Given the description of an element on the screen output the (x, y) to click on. 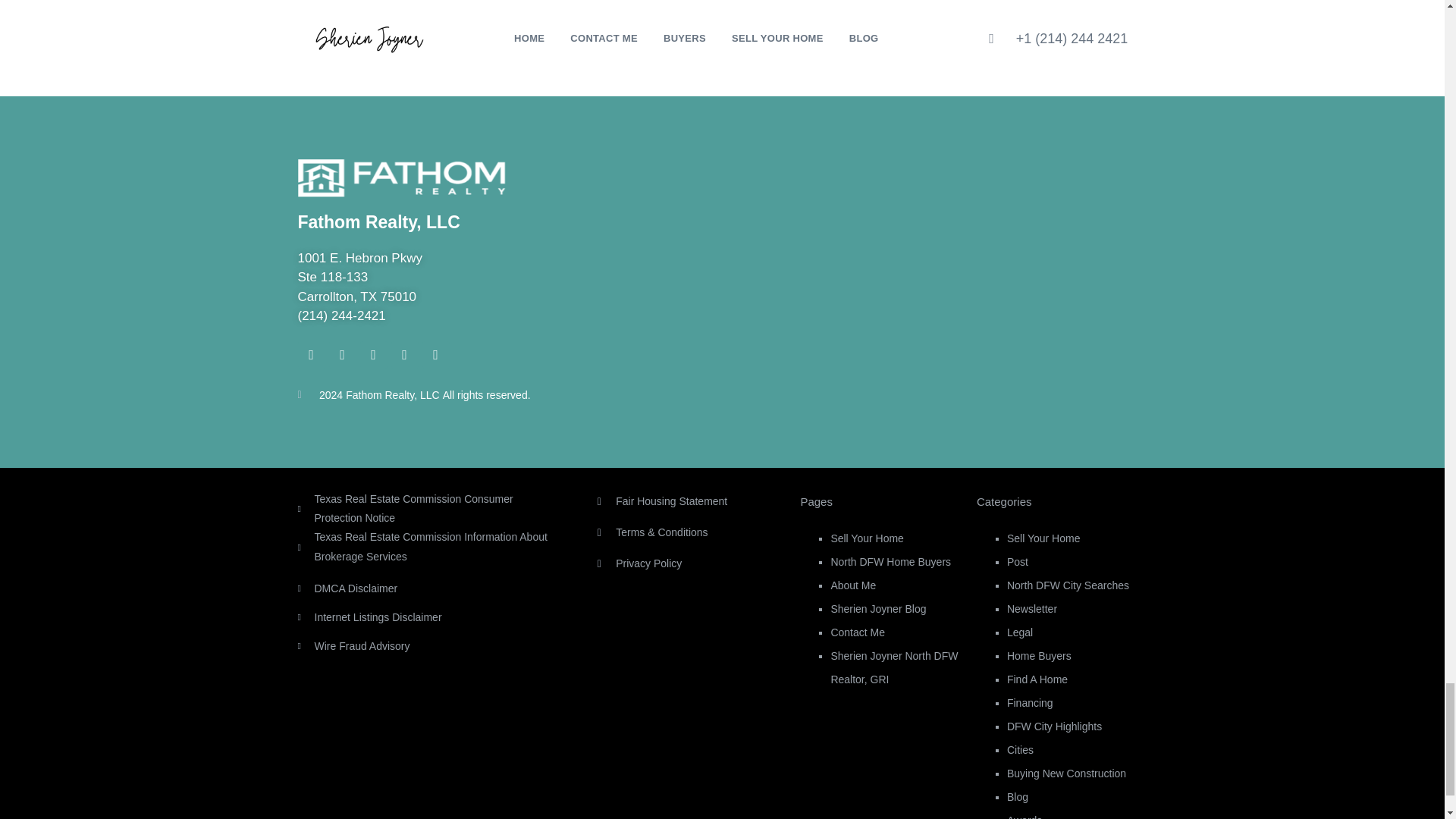
1001 E. Hebron Pkwy  Ste 118-133  Carrollton, TX 75010 (938, 281)
